Given the description of an element on the screen output the (x, y) to click on. 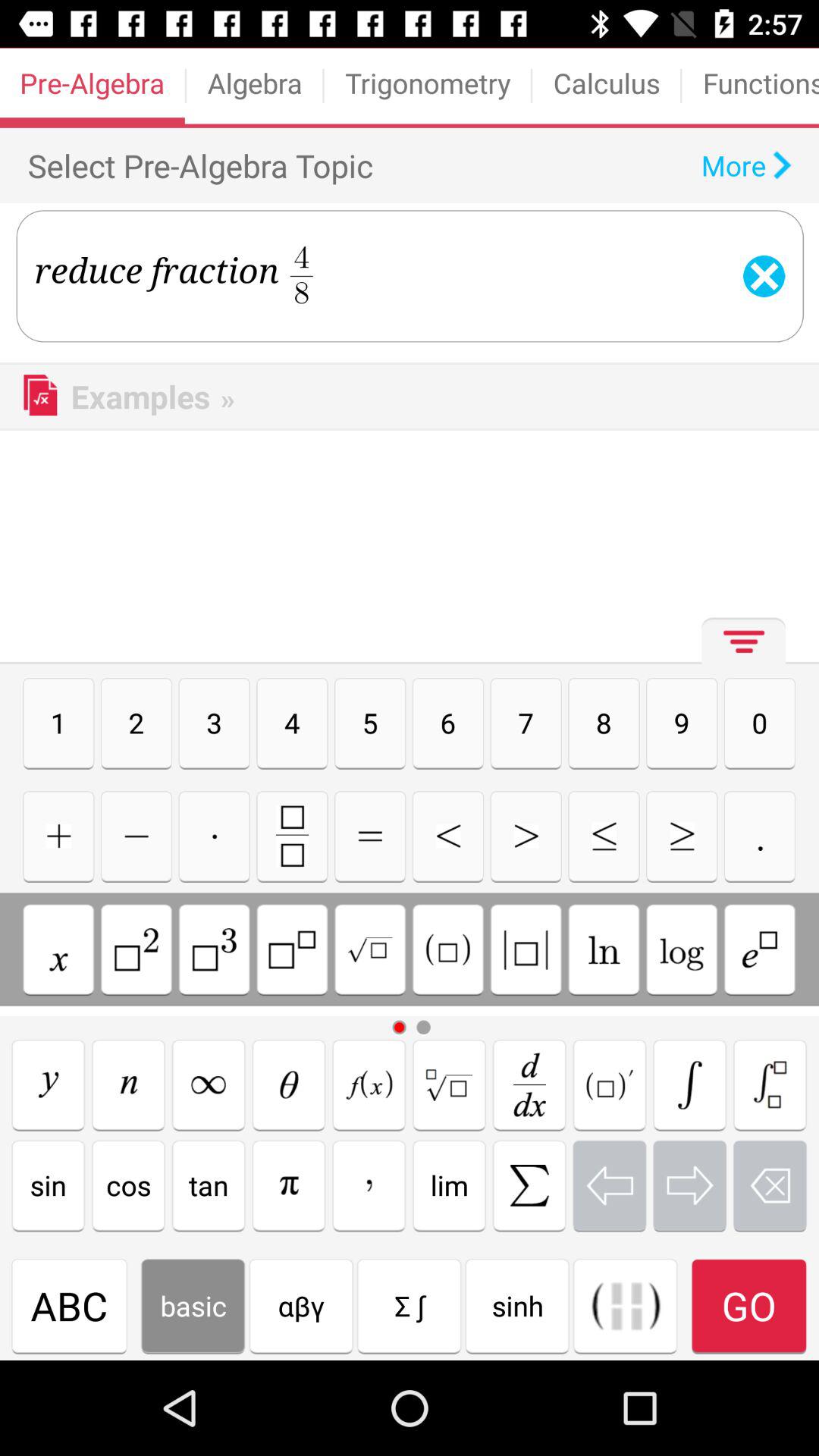
maths using keyboard (681, 949)
